Given the description of an element on the screen output the (x, y) to click on. 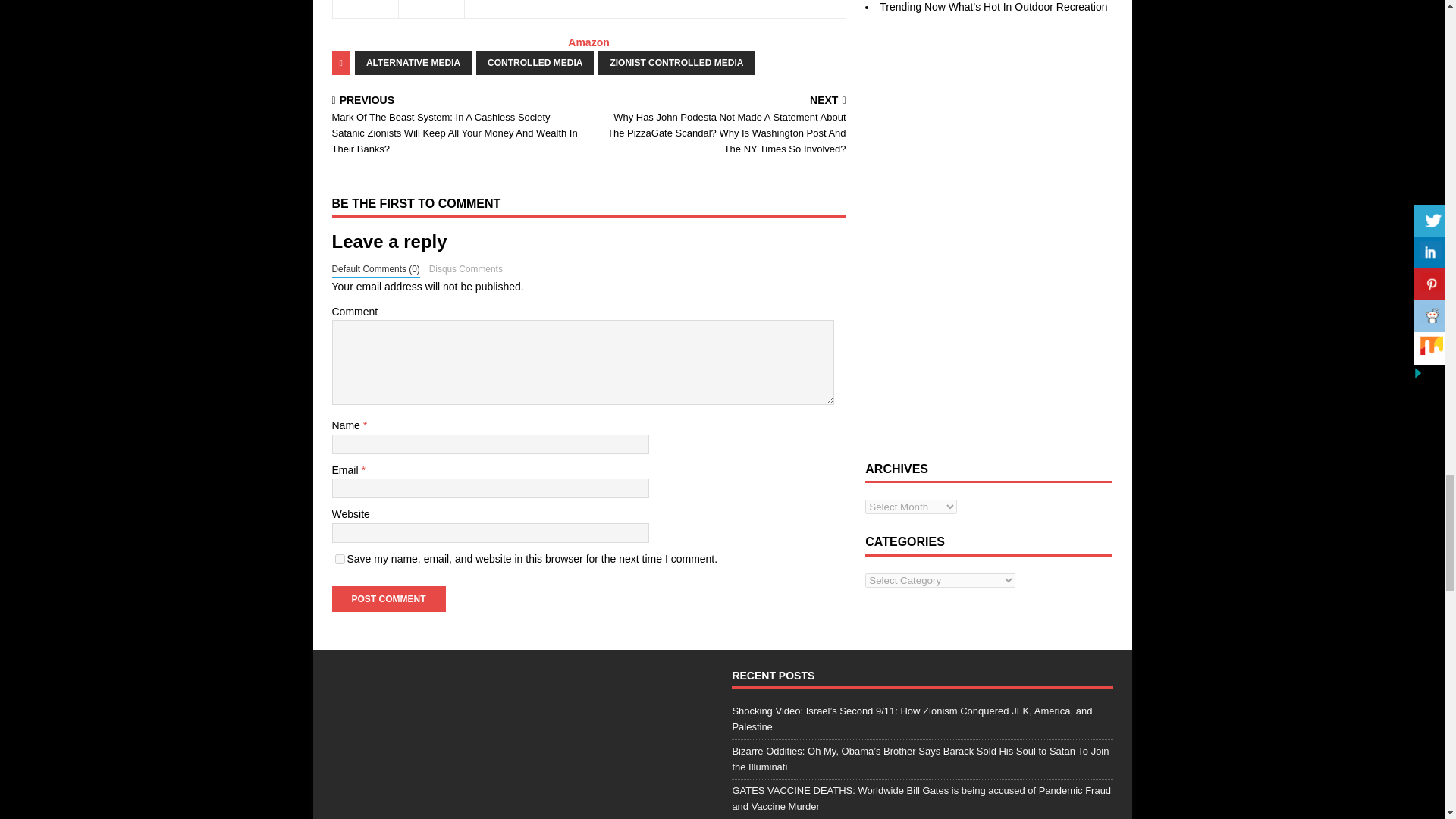
Amazon (587, 42)
Post Comment (388, 598)
yes (339, 559)
